Given the description of an element on the screen output the (x, y) to click on. 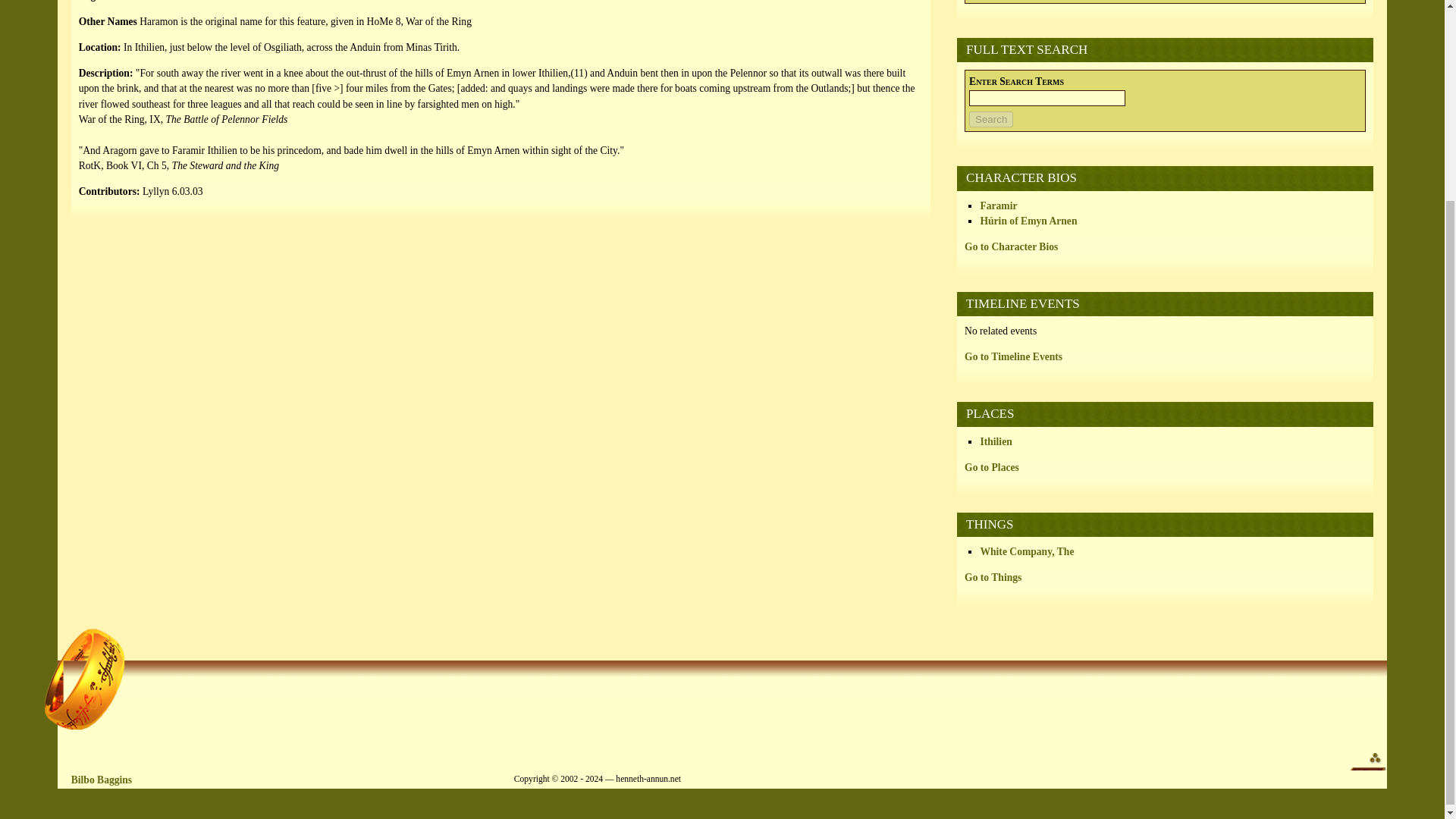
Go to Timeline Events (1012, 356)
Faramir (997, 205)
Search for places in Middle-earth in the Reference Library (1164, 5)
Ithilien (995, 441)
Go to Things (992, 577)
Search (991, 119)
Go to Character Bios (1010, 246)
White Company, The (1026, 551)
Bilbo Baggins (101, 779)
Click to view White Company, The (1026, 551)
